Given the description of an element on the screen output the (x, y) to click on. 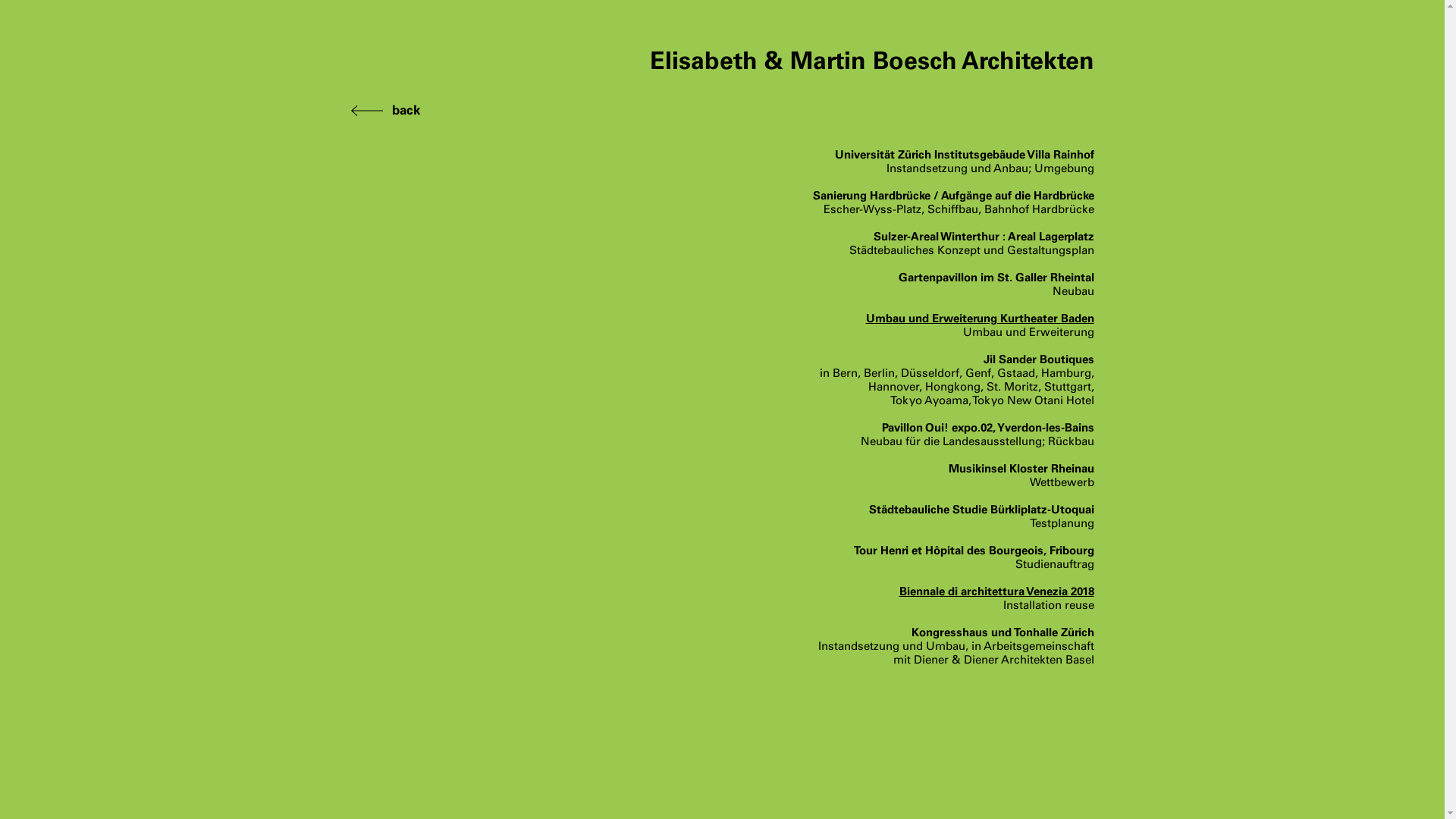
Elisabeth & Martin Boesch Architekten Element type: text (871, 62)
Umbau und Erweiterung Kurtheater Baden Element type: text (980, 318)
Biennale di architettura Venezia 2018 Element type: text (996, 591)
Umbau und Erweiterung Element type: text (1028, 332)
Installation reuse Element type: text (1047, 605)
back Element type: text (405, 110)
